Given the description of an element on the screen output the (x, y) to click on. 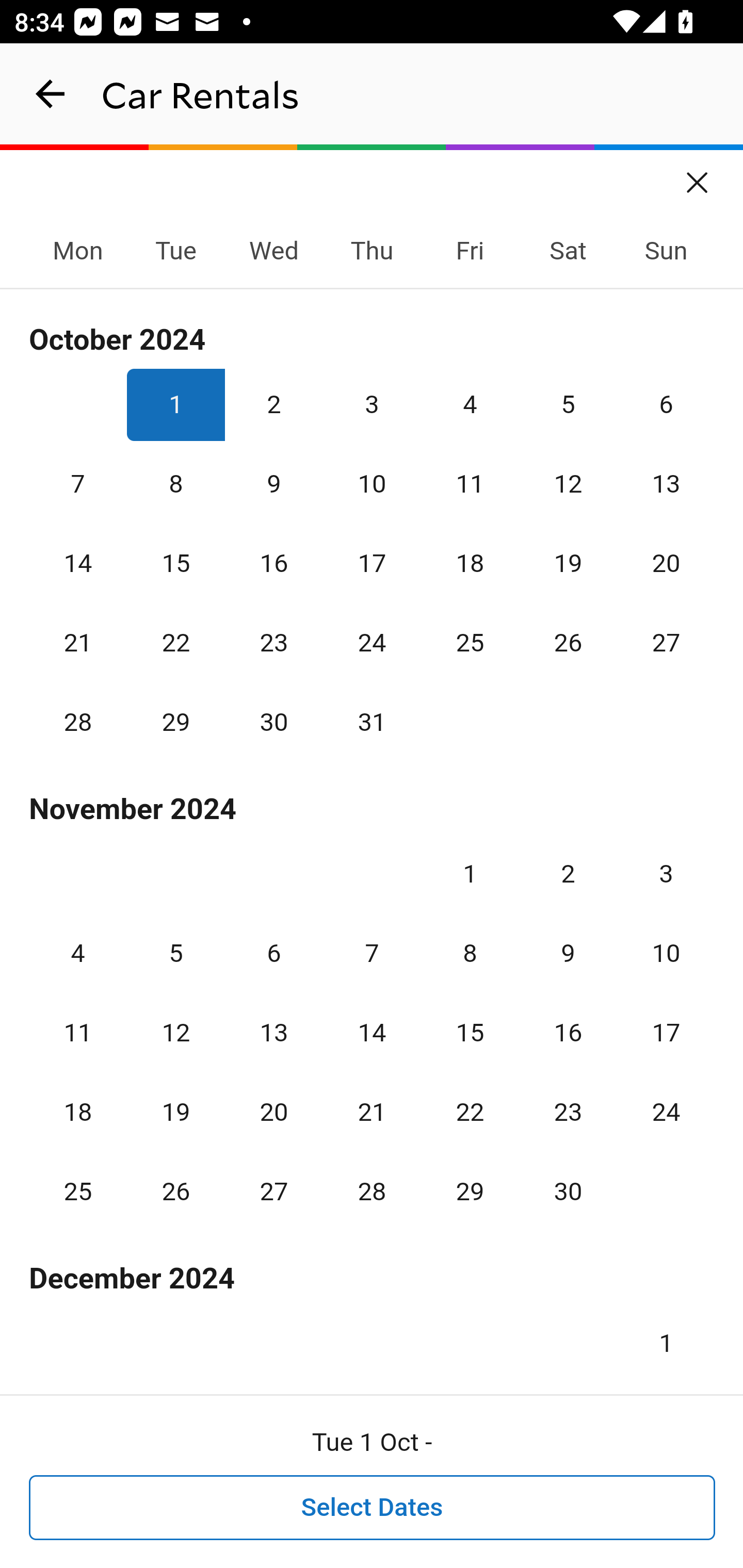
navigation_button (50, 93)
Close (697, 176)
1 October 2024 (175, 404)
2 October 2024 (273, 404)
3 October 2024 (371, 404)
4 October 2024 (470, 404)
5 October 2024 (567, 404)
6 October 2024 (665, 404)
7 October 2024 (77, 484)
8 October 2024 (175, 484)
9 October 2024 (273, 484)
10 October 2024 (371, 484)
11 October 2024 (470, 484)
12 October 2024 (567, 484)
13 October 2024 (665, 484)
14 October 2024 (77, 563)
15 October 2024 (175, 563)
16 October 2024 (273, 563)
17 October 2024 (371, 563)
18 October 2024 (470, 563)
19 October 2024 (567, 563)
20 October 2024 (665, 563)
21 October 2024 (77, 642)
22 October 2024 (175, 642)
23 October 2024 (273, 642)
24 October 2024 (371, 642)
25 October 2024 (470, 642)
26 October 2024 (567, 642)
27 October 2024 (665, 642)
28 October 2024 (77, 722)
29 October 2024 (175, 722)
30 October 2024 (273, 722)
31 October 2024 (371, 722)
1 November 2024 (470, 873)
2 November 2024 (567, 873)
3 November 2024 (665, 873)
4 November 2024 (77, 952)
5 November 2024 (175, 952)
6 November 2024 (273, 952)
7 November 2024 (371, 952)
8 November 2024 (470, 952)
9 November 2024 (567, 952)
10 November 2024 (665, 952)
11 November 2024 (77, 1032)
12 November 2024 (175, 1032)
13 November 2024 (273, 1032)
14 November 2024 (371, 1032)
15 November 2024 (470, 1032)
16 November 2024 (567, 1032)
17 November 2024 (665, 1032)
18 November 2024 (77, 1112)
19 November 2024 (175, 1112)
20 November 2024 (273, 1112)
21 November 2024 (371, 1112)
22 November 2024 (470, 1112)
23 November 2024 (567, 1112)
24 November 2024 (665, 1112)
25 November 2024 (77, 1191)
26 November 2024 (175, 1191)
27 November 2024 (273, 1191)
28 November 2024 (371, 1191)
29 November 2024 (470, 1191)
30 November 2024 (567, 1191)
1 December 2024 (665, 1336)
Select Dates (372, 1508)
